Given the description of an element on the screen output the (x, y) to click on. 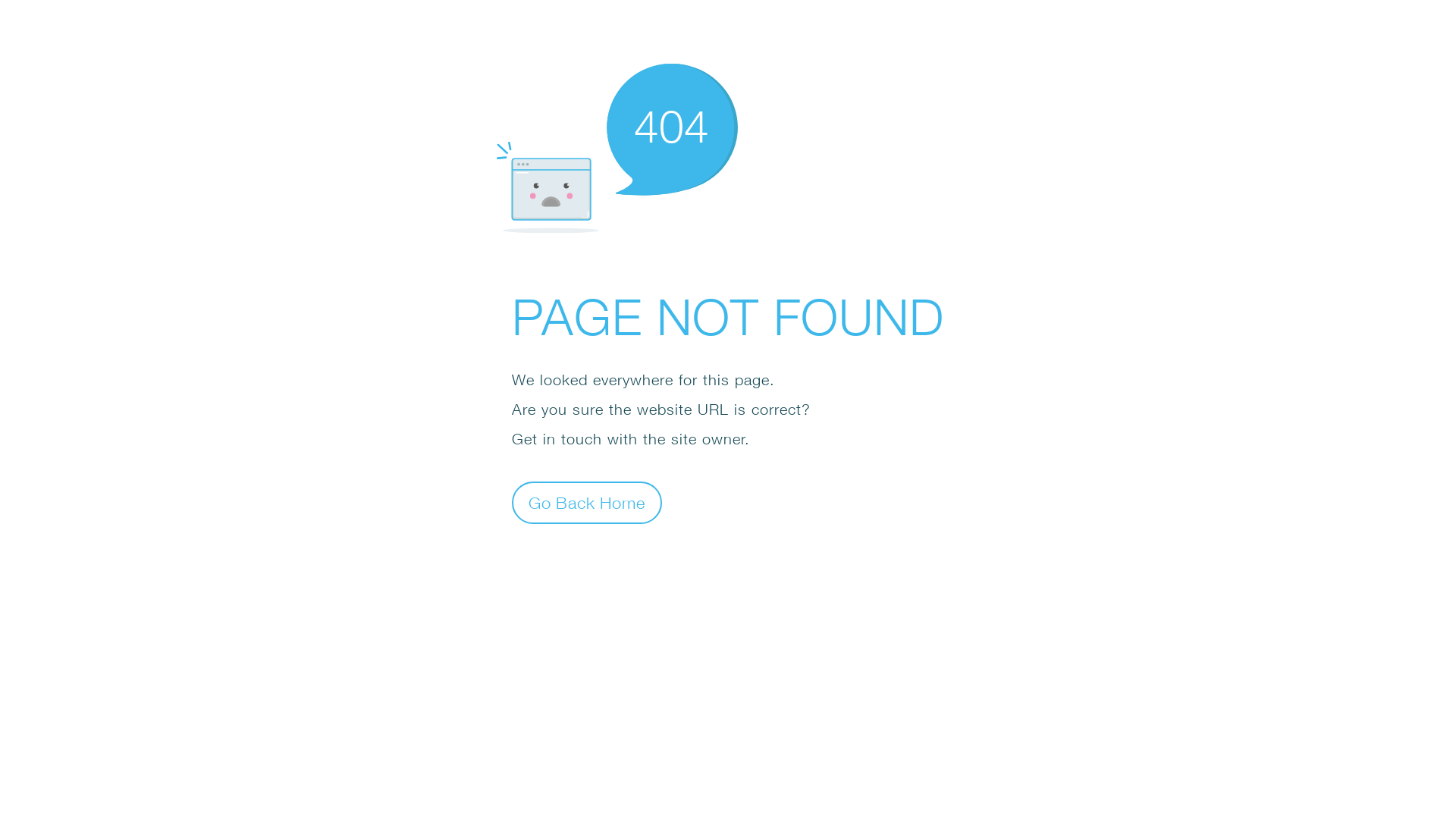
Go Back Home Element type: text (586, 502)
